Given the description of an element on the screen output the (x, y) to click on. 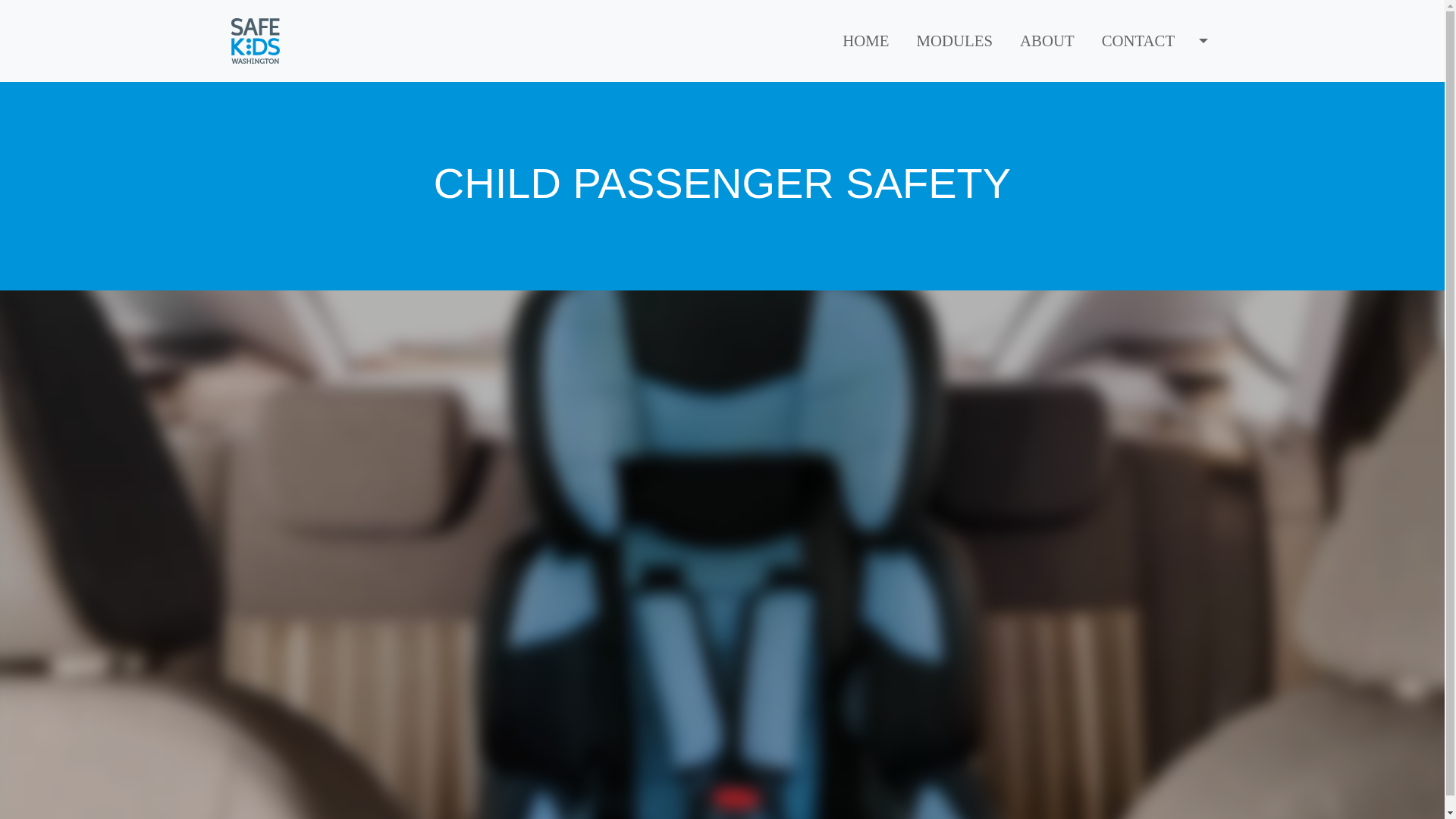
HOME (865, 40)
CONTACT (1138, 40)
Home (261, 40)
MODULES (954, 40)
ABOUT (1046, 40)
